Given the description of an element on the screen output the (x, y) to click on. 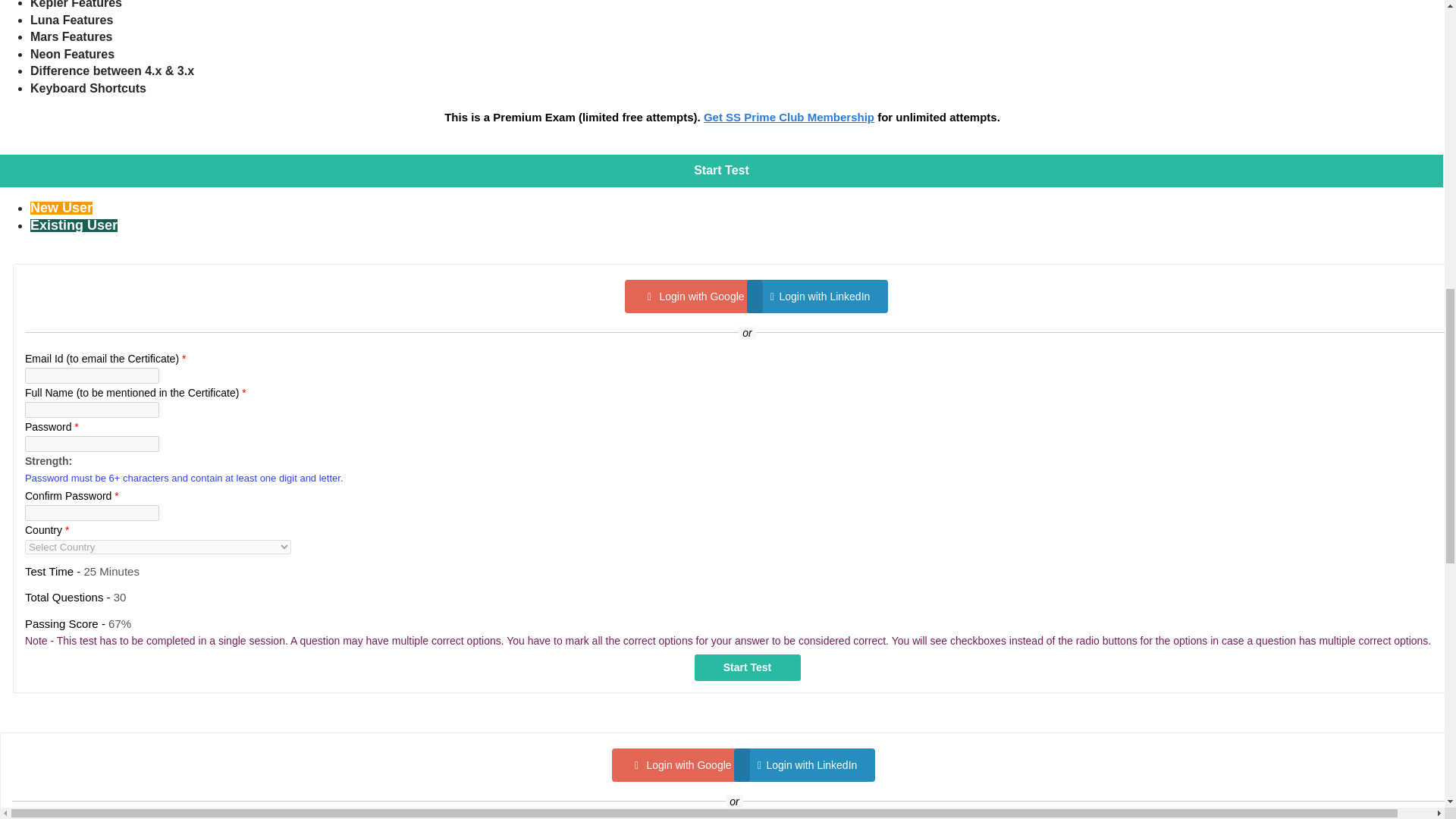
Existing User (73, 225)
New User (61, 207)
Login with LinkedIn (804, 765)
Login with LinkedIn (817, 296)
Start Test (747, 667)
Login with Google (693, 296)
Start Test (747, 667)
Get SS Prime Club Membership (789, 116)
Start Test (747, 667)
Login with Google (680, 765)
